Given the description of an element on the screen output the (x, y) to click on. 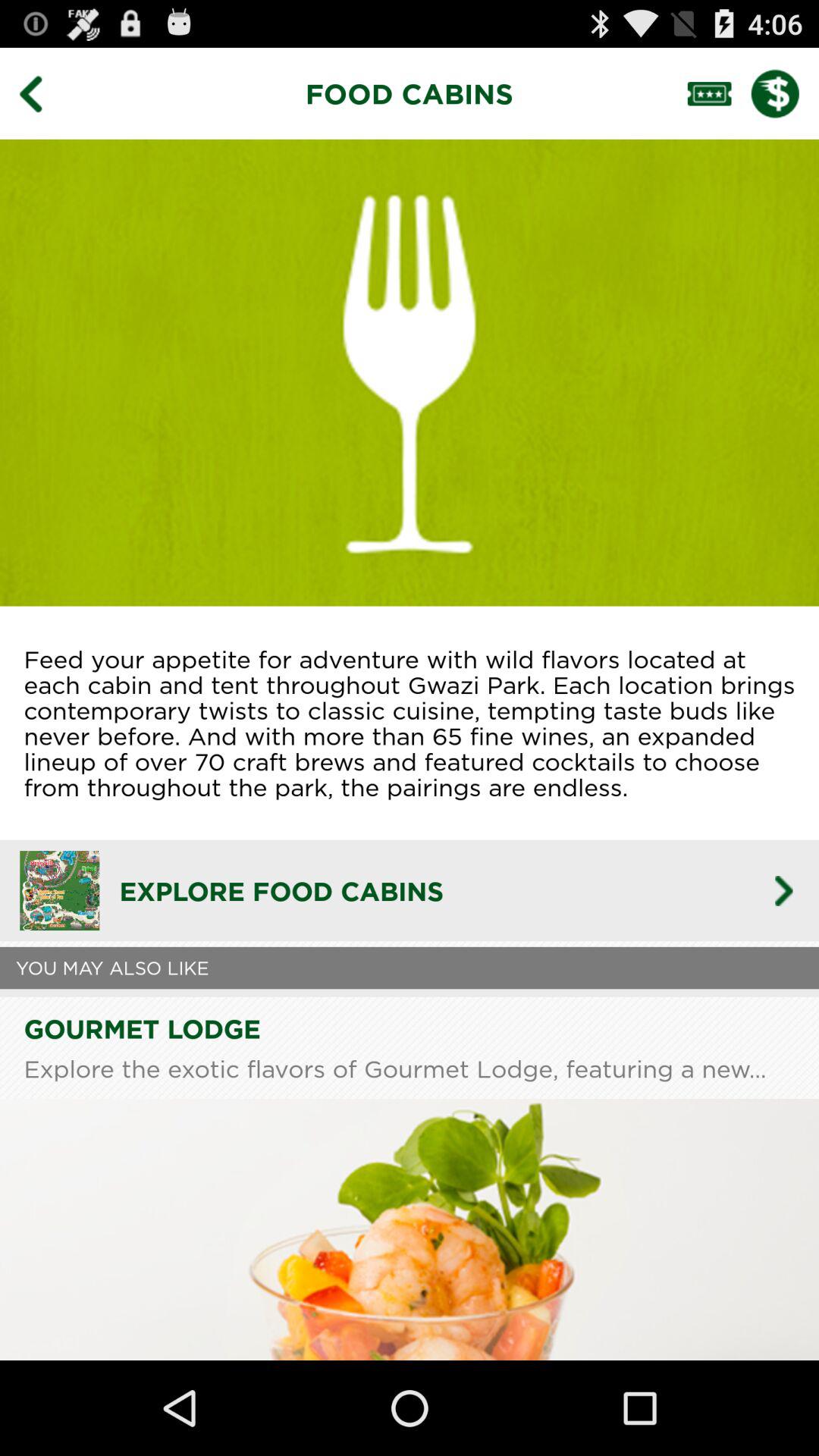
back button previous screen (41, 93)
